Given the description of an element on the screen output the (x, y) to click on. 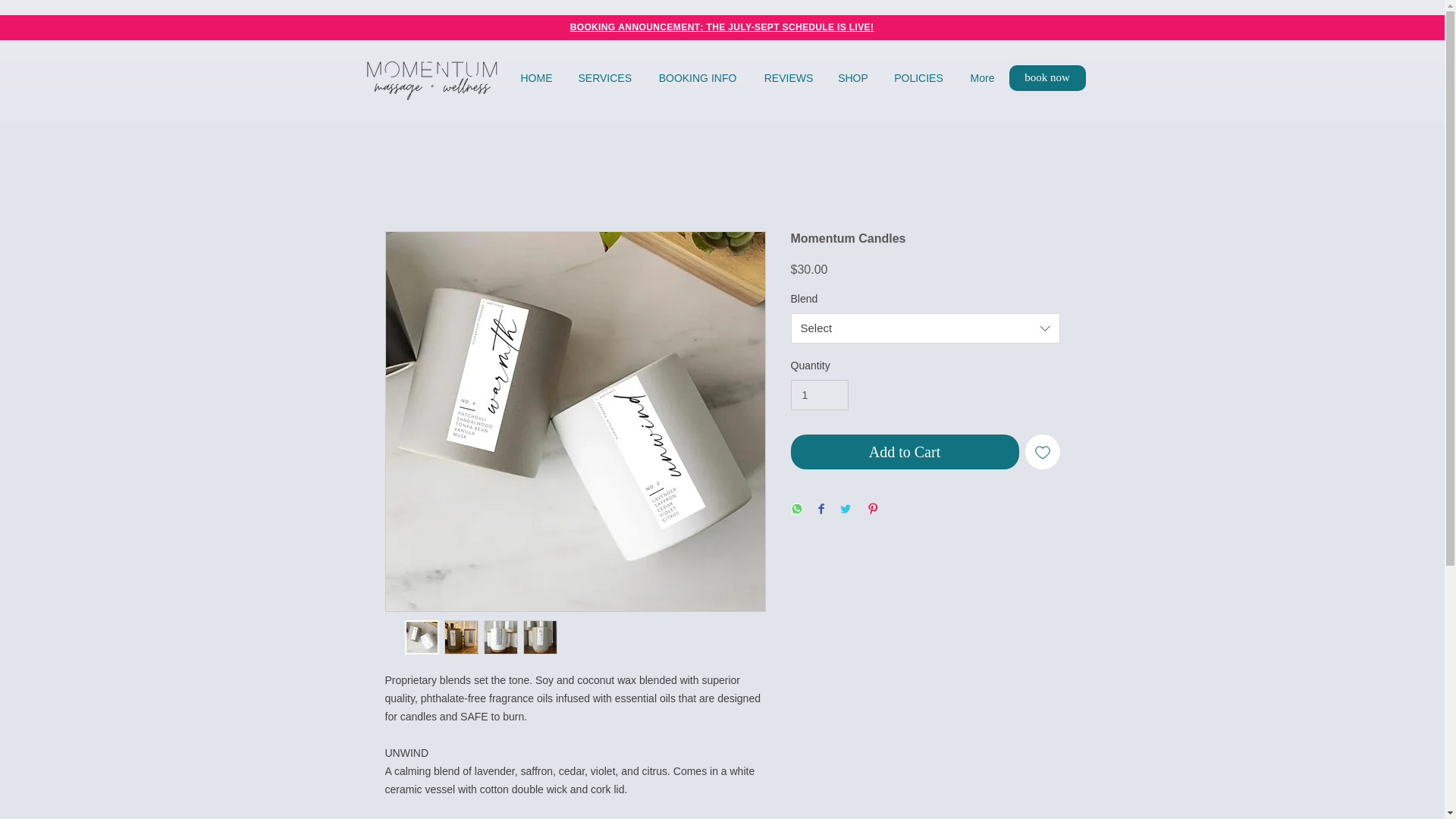
1 (818, 395)
BOOKING INFO (697, 77)
SERVICES (605, 77)
BOOKING ANNOUNCEMENT: THE JULY-SEPT SCHEDULE IS LIVE! (722, 27)
SHOP (853, 77)
HOME (536, 77)
Select (924, 327)
REVIEWS (788, 77)
book now (1046, 77)
POLICIES (917, 77)
Add to Cart (903, 451)
